Given the description of an element on the screen output the (x, y) to click on. 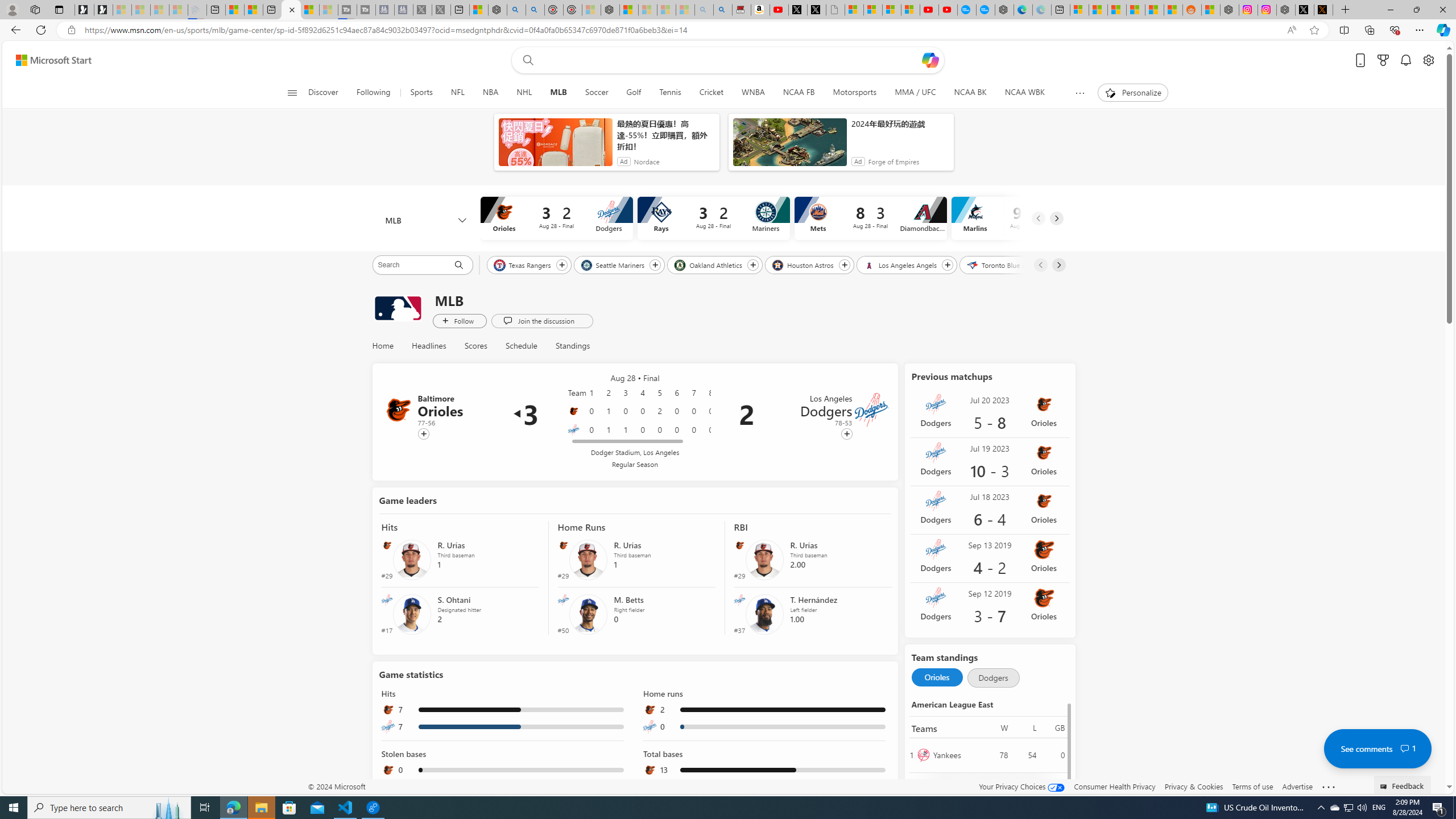
MLB (397, 308)
Houston Astros (803, 264)
Streaming Coverage | T3 - Sleeping (347, 9)
Class: feedback_link_icon-DS-EntryPoint1-1 (1384, 786)
Open Copilot (930, 59)
Orioles 3 vs Dodgers 2Final Date Aug 28 (556, 217)
Dodgers (992, 678)
MLB (558, 92)
Scores (475, 345)
The most popular Google 'how to' searches (985, 9)
Standings (567, 345)
Orioles (936, 677)
